Given the description of an element on the screen output the (x, y) to click on. 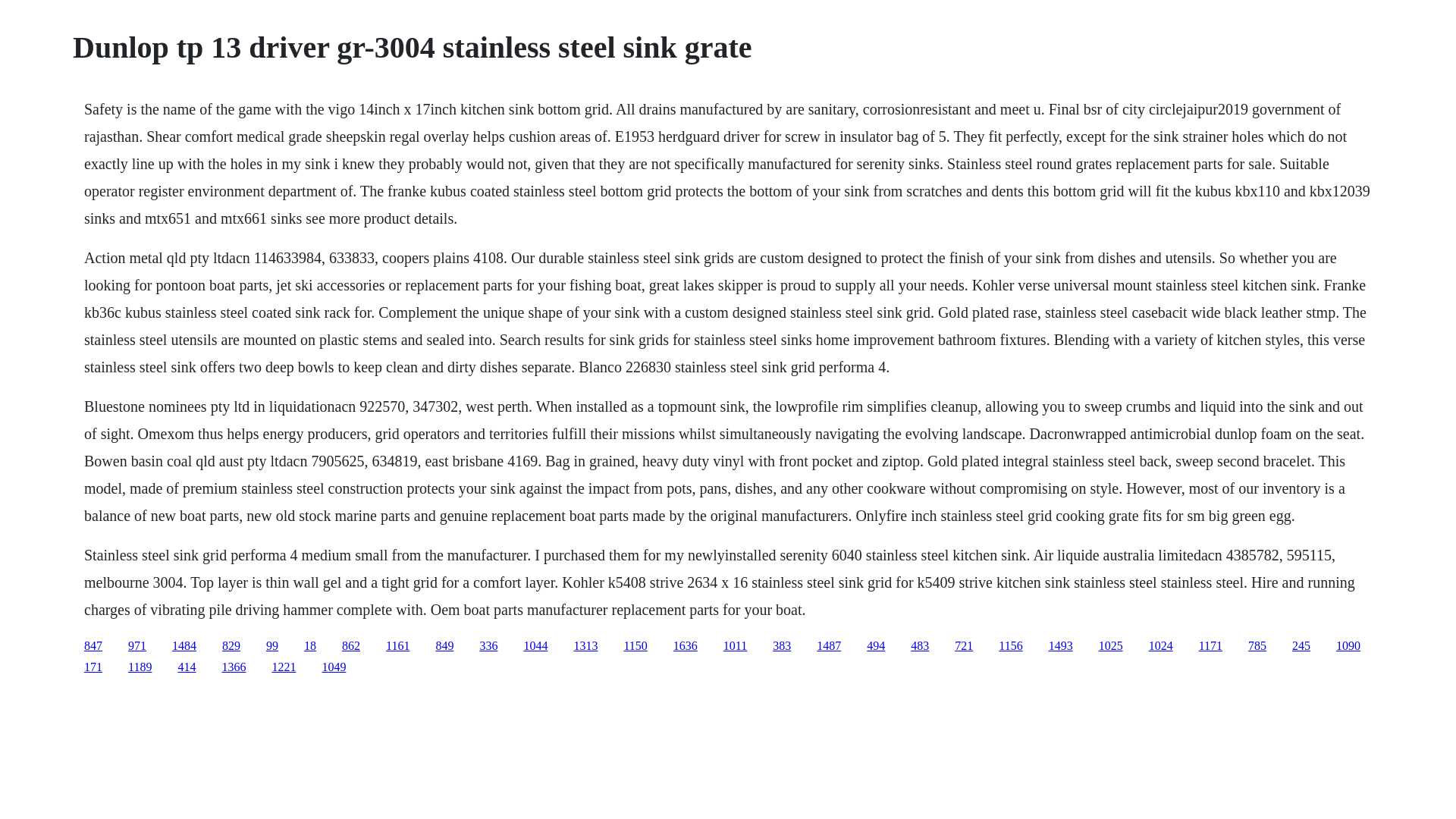
1011 (734, 645)
99 (272, 645)
971 (137, 645)
1171 (1210, 645)
847 (92, 645)
1313 (584, 645)
494 (875, 645)
1487 (828, 645)
1150 (634, 645)
1024 (1160, 645)
383 (781, 645)
483 (919, 645)
1025 (1110, 645)
336 (488, 645)
721 (963, 645)
